Given the description of an element on the screen output the (x, y) to click on. 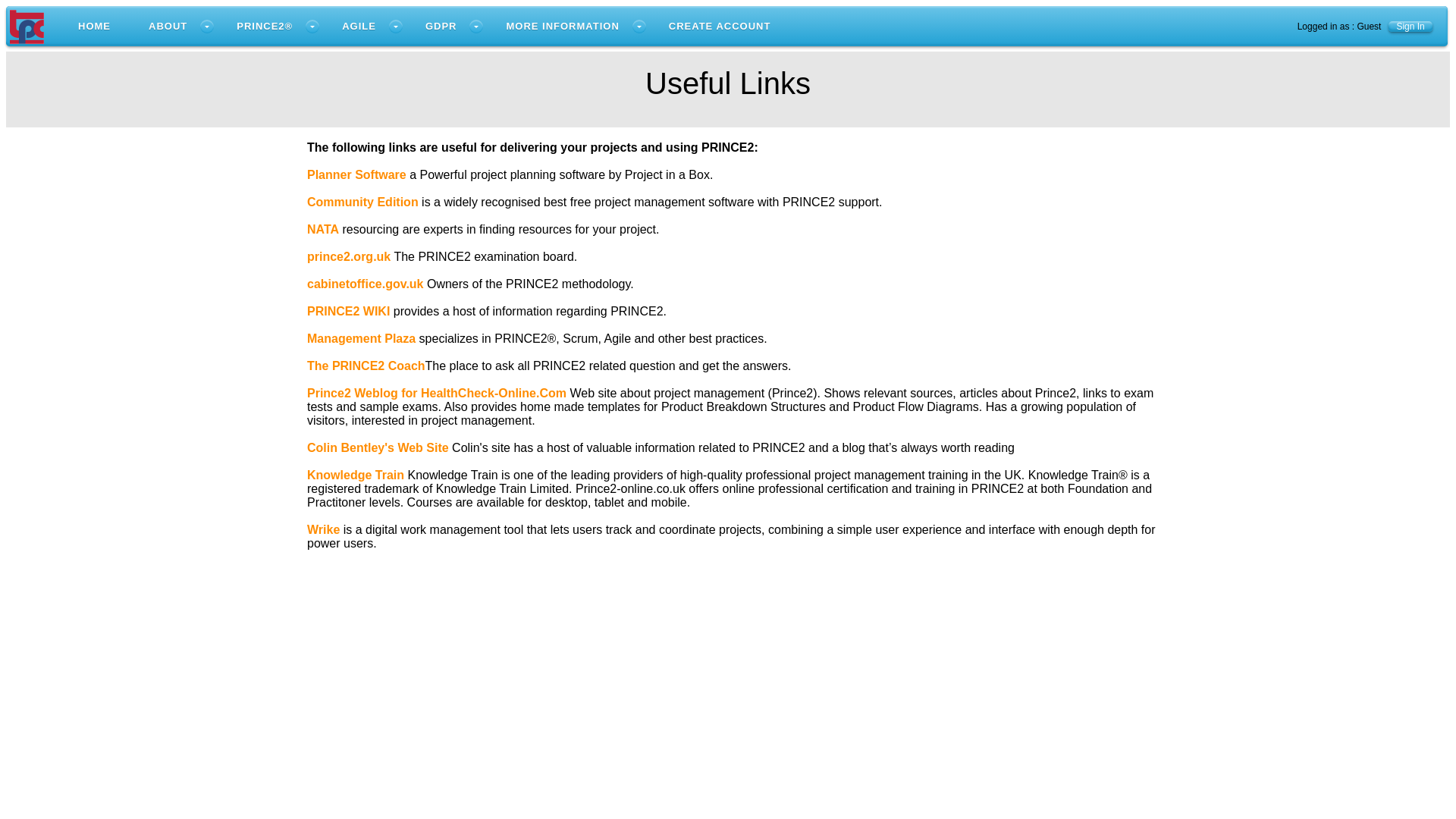
AGILE (364, 25)
Wrike (323, 529)
Knowledge Train (355, 474)
prince2.org.uk (348, 256)
The PRINCE2 Coach (366, 365)
Planner Software (356, 174)
Community Edition (363, 201)
GDPR (446, 25)
Colin Bentley's Web Site (379, 447)
